Given the description of an element on the screen output the (x, y) to click on. 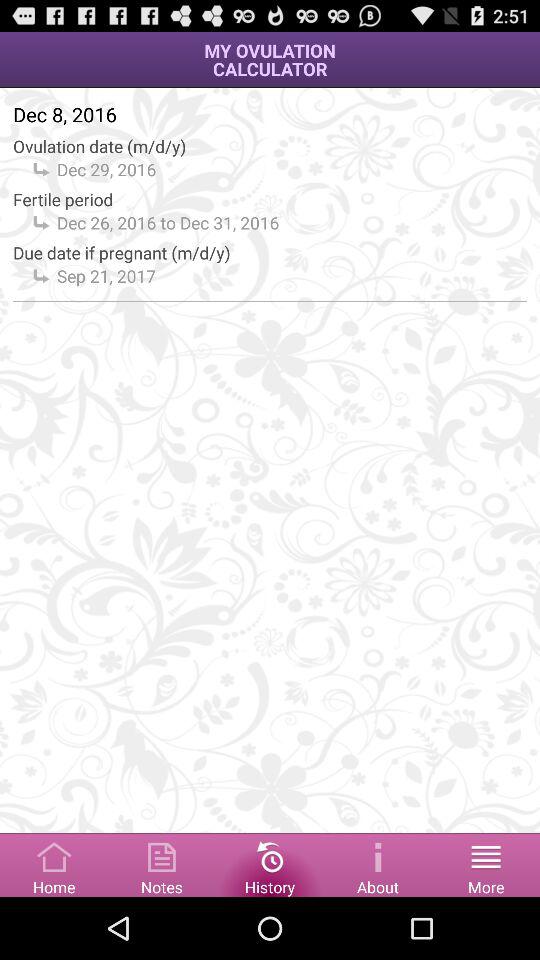
click to notes option (162, 864)
